Given the description of an element on the screen output the (x, y) to click on. 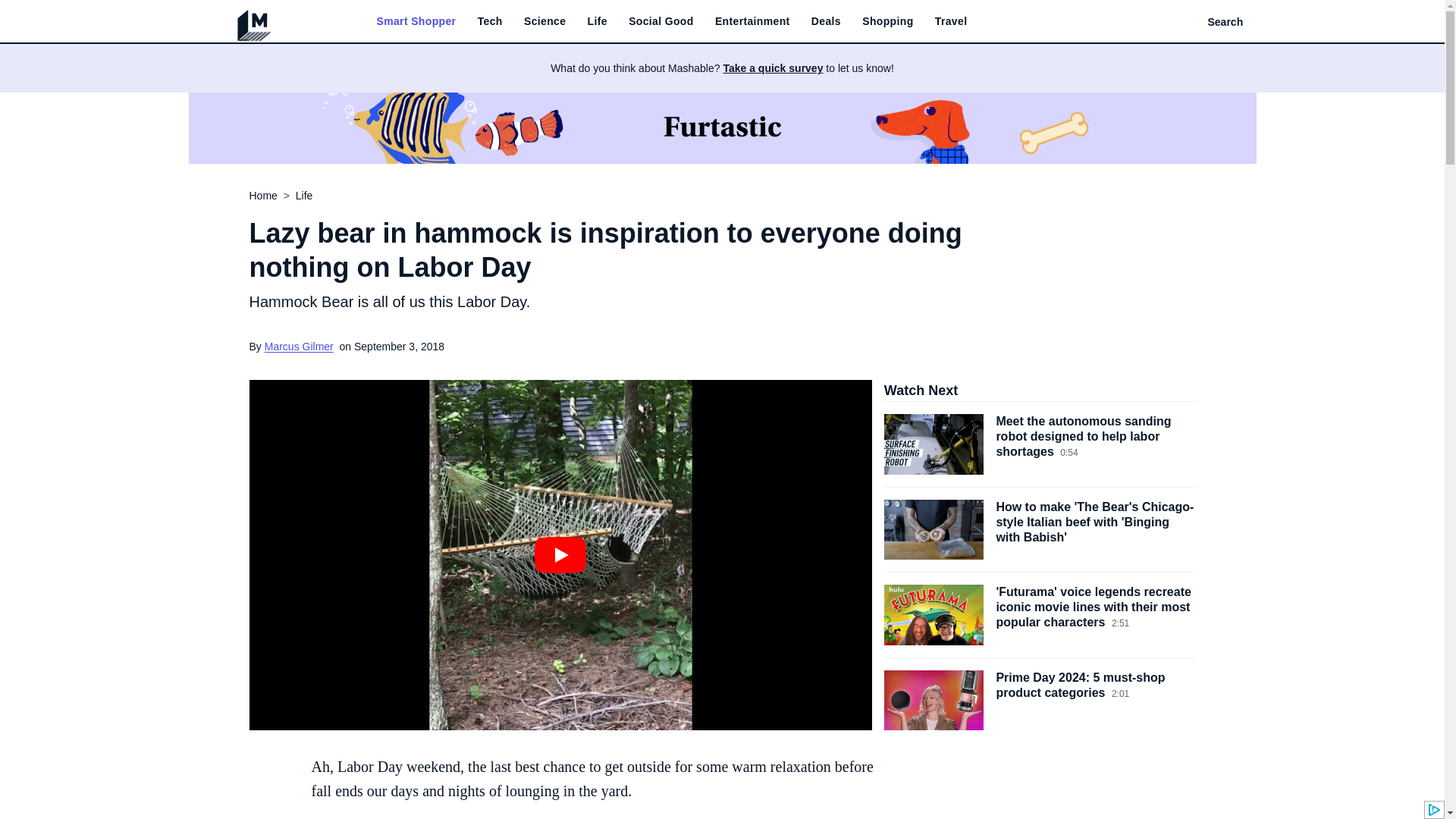
Life (597, 21)
Shopping (886, 21)
Science (545, 21)
Play (560, 555)
Entertainment (752, 21)
Travel (951, 21)
Tech (489, 21)
Smart Shopper (415, 21)
Deals (825, 21)
Social Good (661, 21)
